Given the description of an element on the screen output the (x, y) to click on. 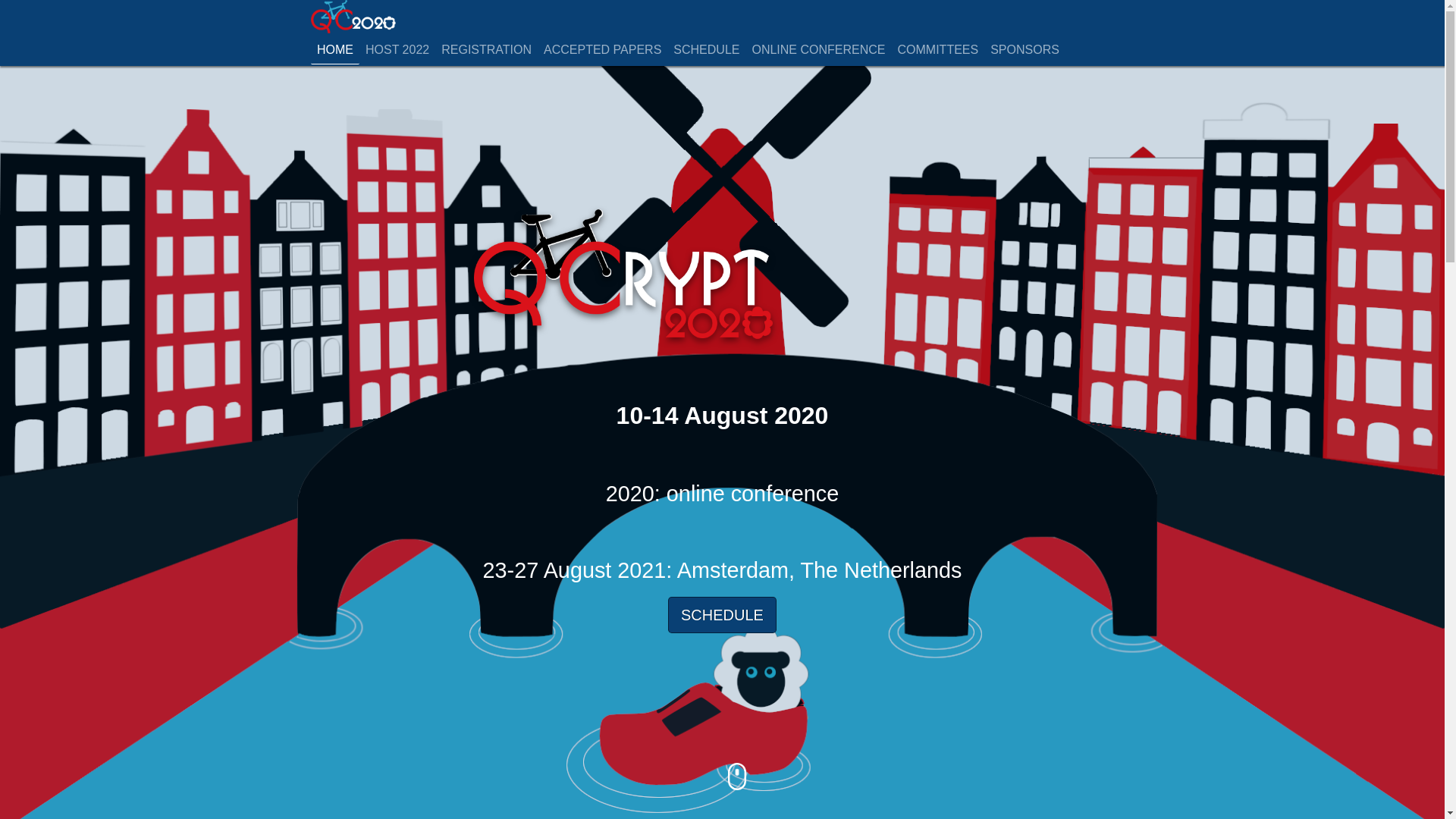
SPONSORS (1024, 49)
COMMITTEES (938, 49)
ONLINE CONFERENCE (818, 49)
HOST 2022 (397, 49)
SCHEDULE (722, 615)
HOME (335, 49)
ACCEPTED PAPERS (601, 49)
SCHEDULE (705, 49)
REGISTRATION (486, 49)
